Given the description of an element on the screen output the (x, y) to click on. 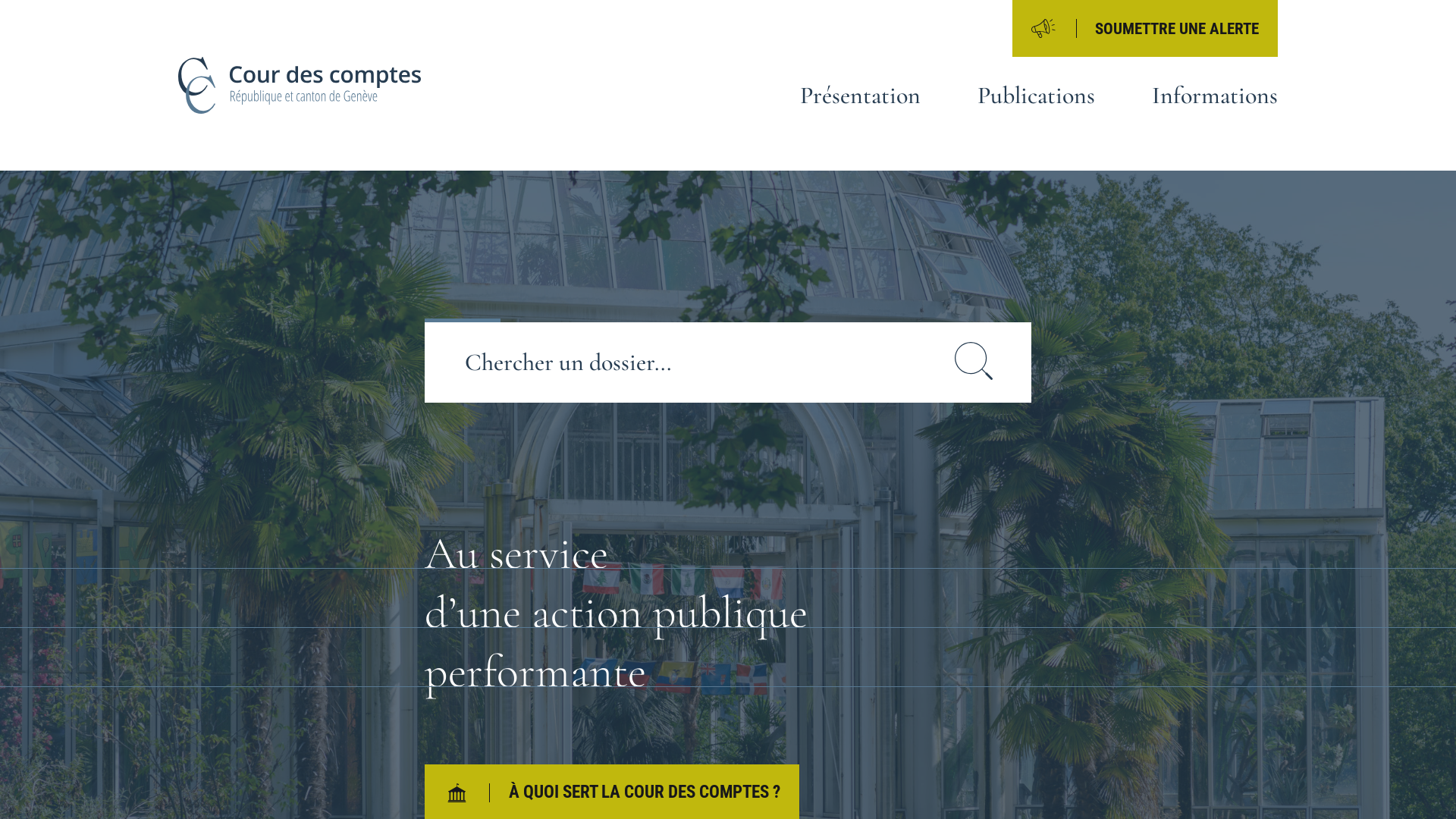
SOUMETTRE UNE ALERTE Element type: text (1144, 28)
Informations Element type: text (1214, 94)
Publications Element type: text (1036, 94)
